Given the description of an element on the screen output the (x, y) to click on. 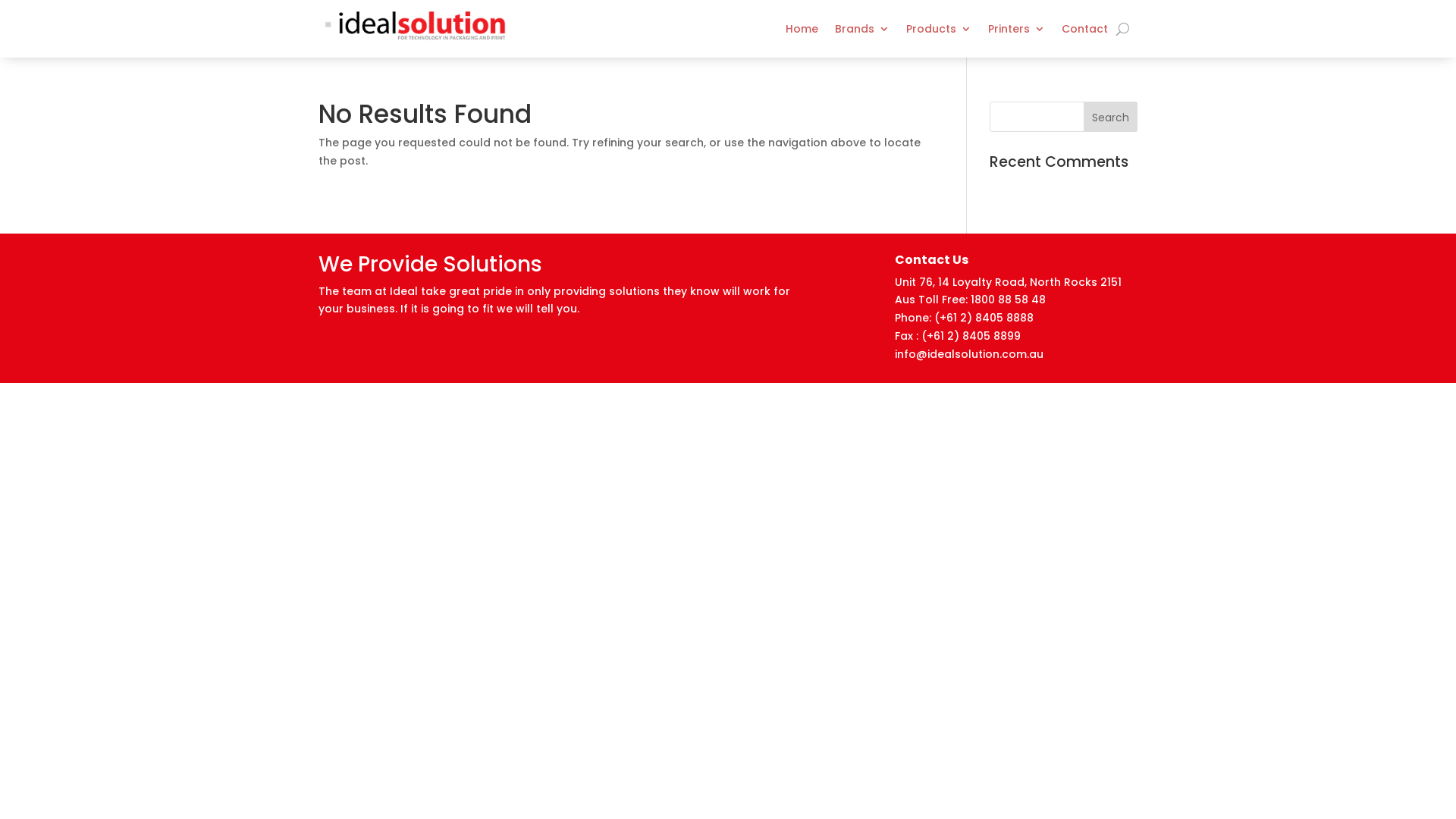
Brands Element type: text (861, 28)
Printers Element type: text (1016, 28)
Home Element type: text (801, 28)
Products Element type: text (938, 28)
Search Element type: text (1110, 116)
Contact Element type: text (1084, 28)
info@idealsolution.com.au  Element type: text (970, 353)
